Given the description of an element on the screen output the (x, y) to click on. 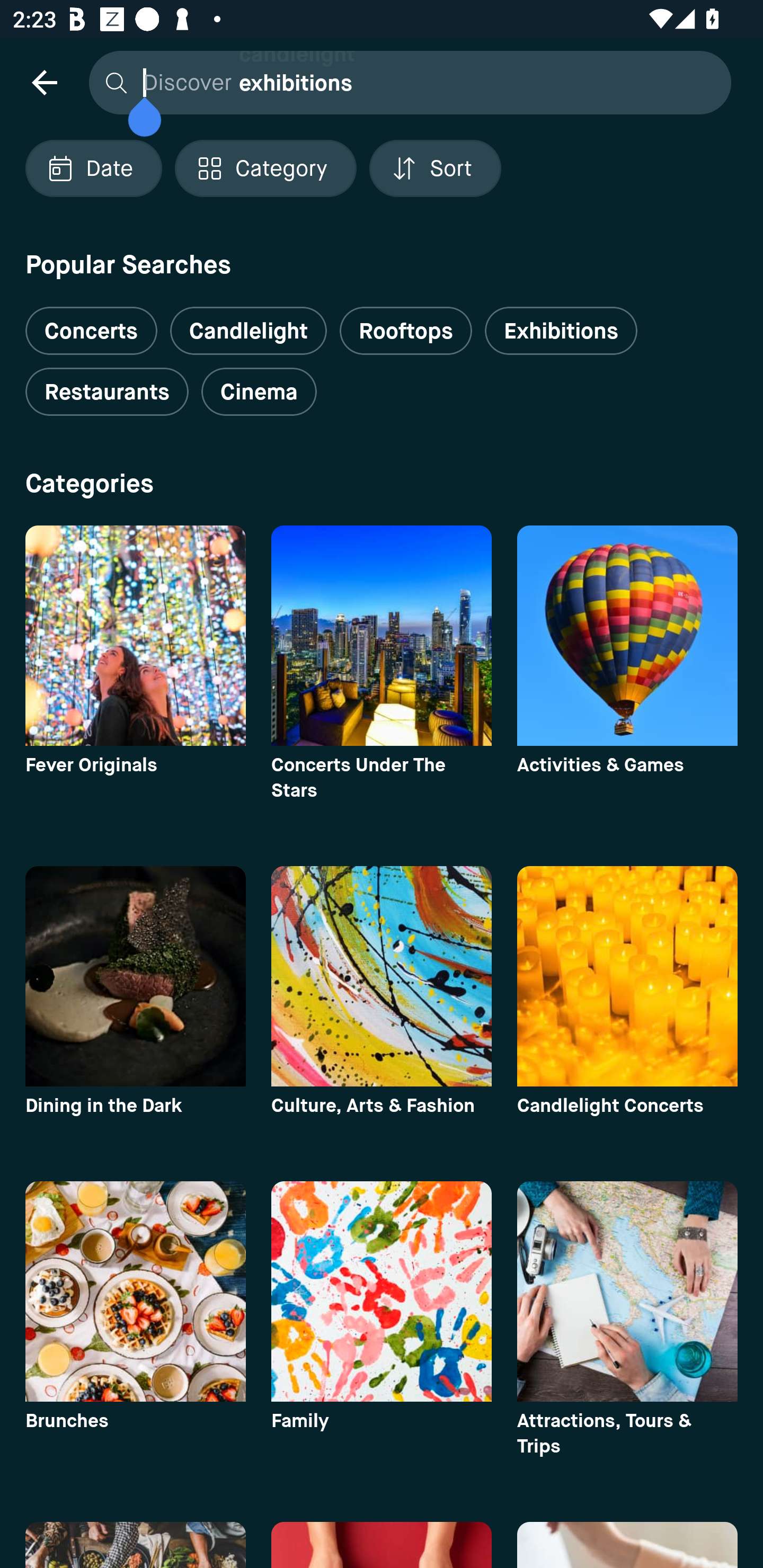
navigation icon (44, 81)
Discover candlelight exhibitions (405, 81)
Localized description Date (93, 168)
Localized description Category (265, 168)
Localized description Sort (435, 168)
Concerts (91, 323)
Candlelight (248, 330)
Rooftops (405, 330)
Exhibitions (560, 330)
Restaurants (106, 391)
Cinema (258, 391)
category image (135, 635)
category image (381, 635)
category image (627, 635)
category image (135, 975)
category image (381, 975)
category image (627, 975)
category image (135, 1290)
category image (381, 1290)
category image (627, 1290)
